Given the description of an element on the screen output the (x, y) to click on. 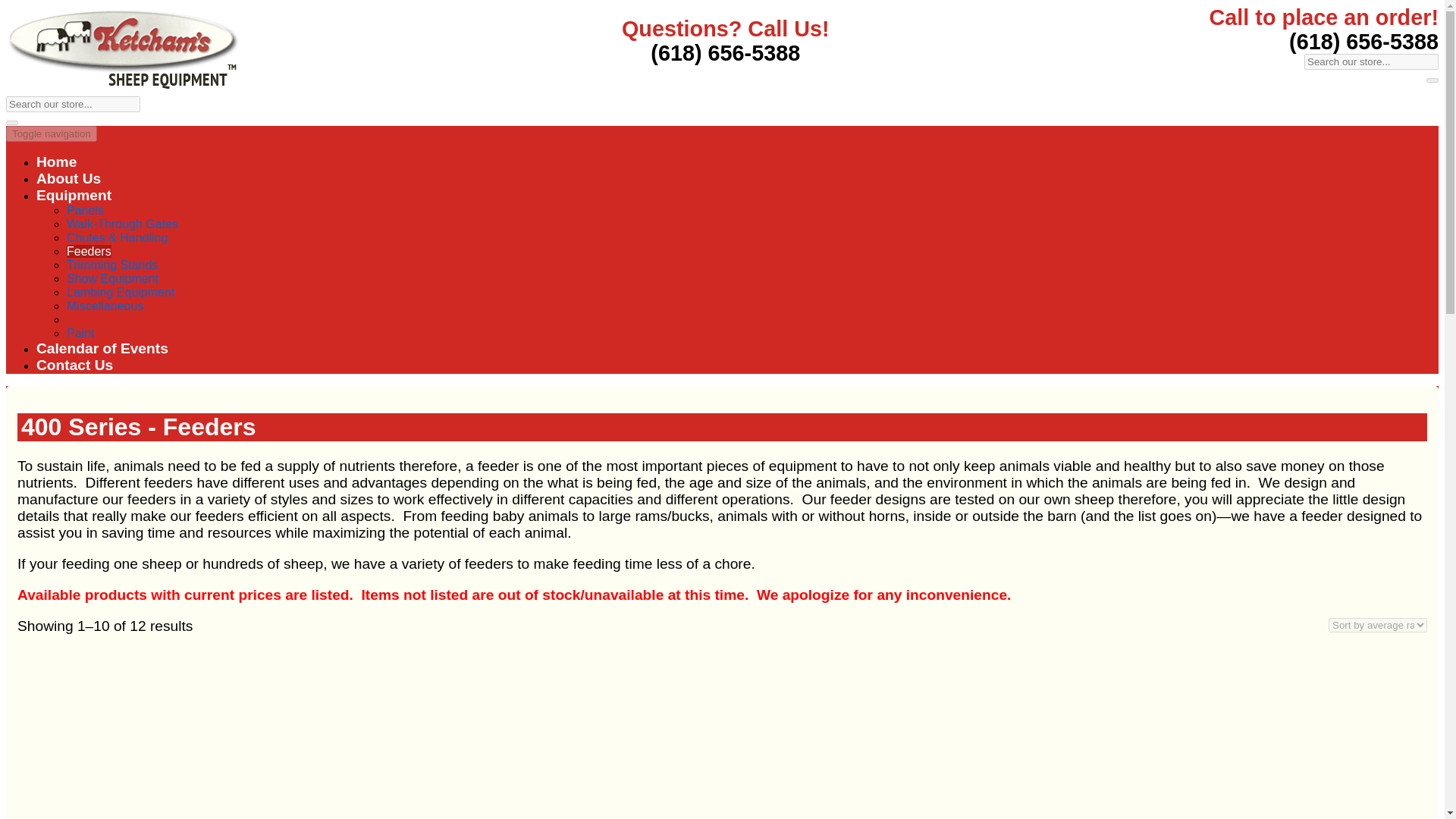
Show Equipment (112, 278)
About Us (68, 178)
Panels (84, 210)
Paint (80, 332)
Trimming Stands (111, 264)
Equipment (74, 195)
Paint (80, 332)
Calendar of Events (102, 348)
Contact Us (74, 365)
Toggle navigation (51, 133)
